Given the description of an element on the screen output the (x, y) to click on. 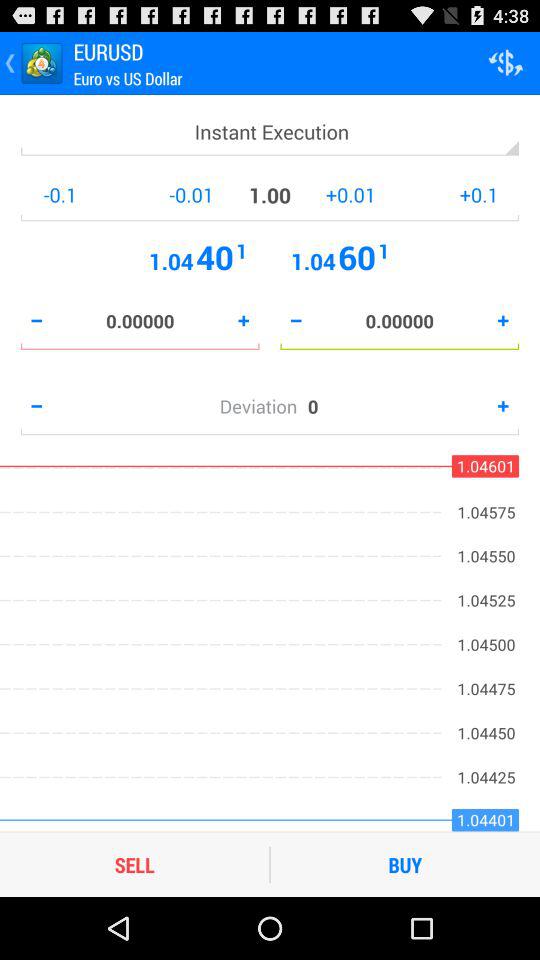
flip to the buy icon (405, 864)
